Given the description of an element on the screen output the (x, y) to click on. 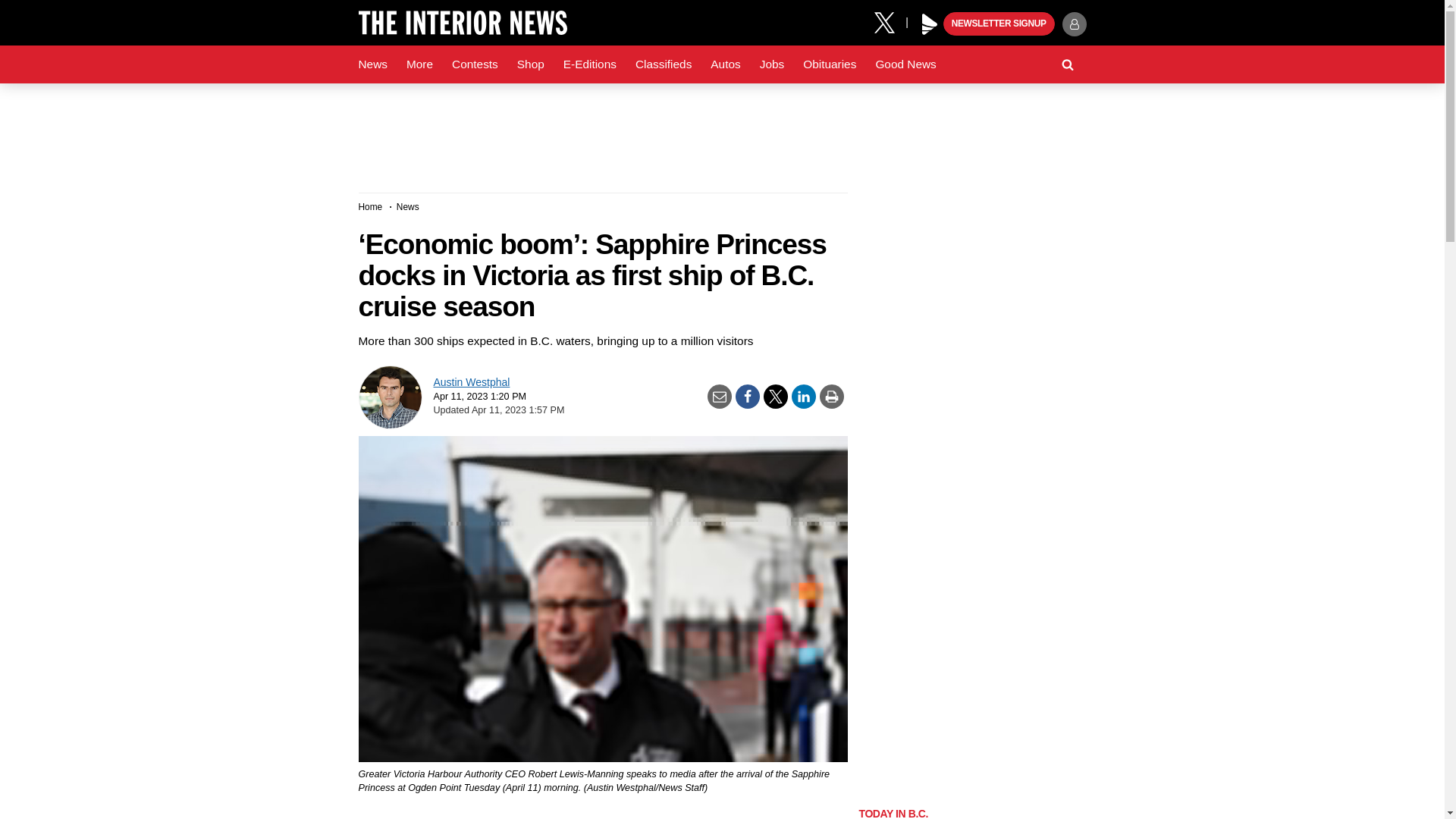
Play (929, 24)
X (889, 21)
Black Press Media (929, 24)
News (372, 64)
NEWSLETTER SIGNUP (998, 24)
